Given the description of an element on the screen output the (x, y) to click on. 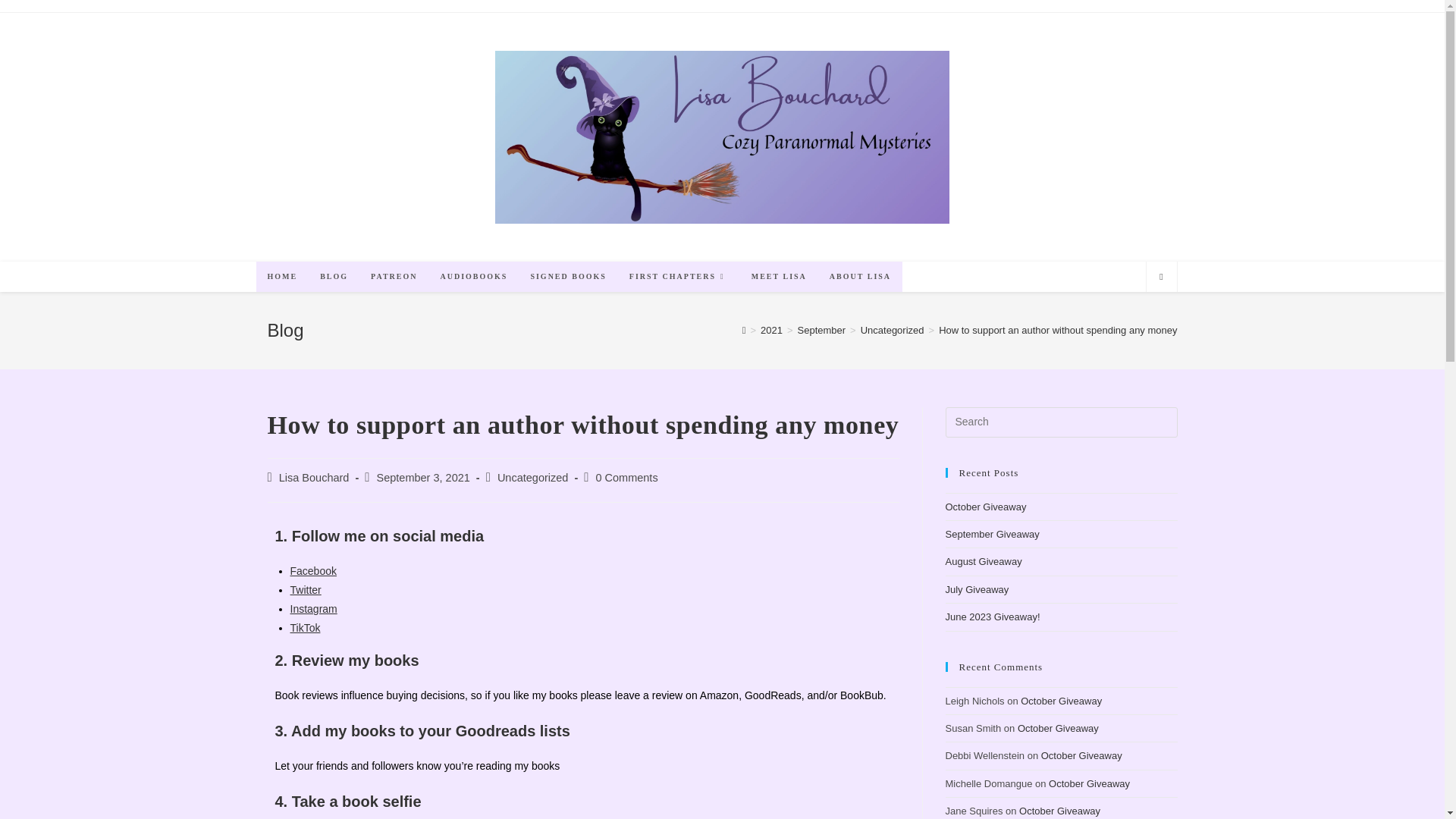
Posts by Lisa Bouchard (314, 477)
HOME (282, 276)
AUDIOBOOKS (474, 276)
ABOUT LISA (860, 276)
BLOG (333, 276)
SIGNED BOOKS (567, 276)
FIRST CHAPTERS (678, 276)
MEET LISA (778, 276)
PATREON (393, 276)
